Given the description of an element on the screen output the (x, y) to click on. 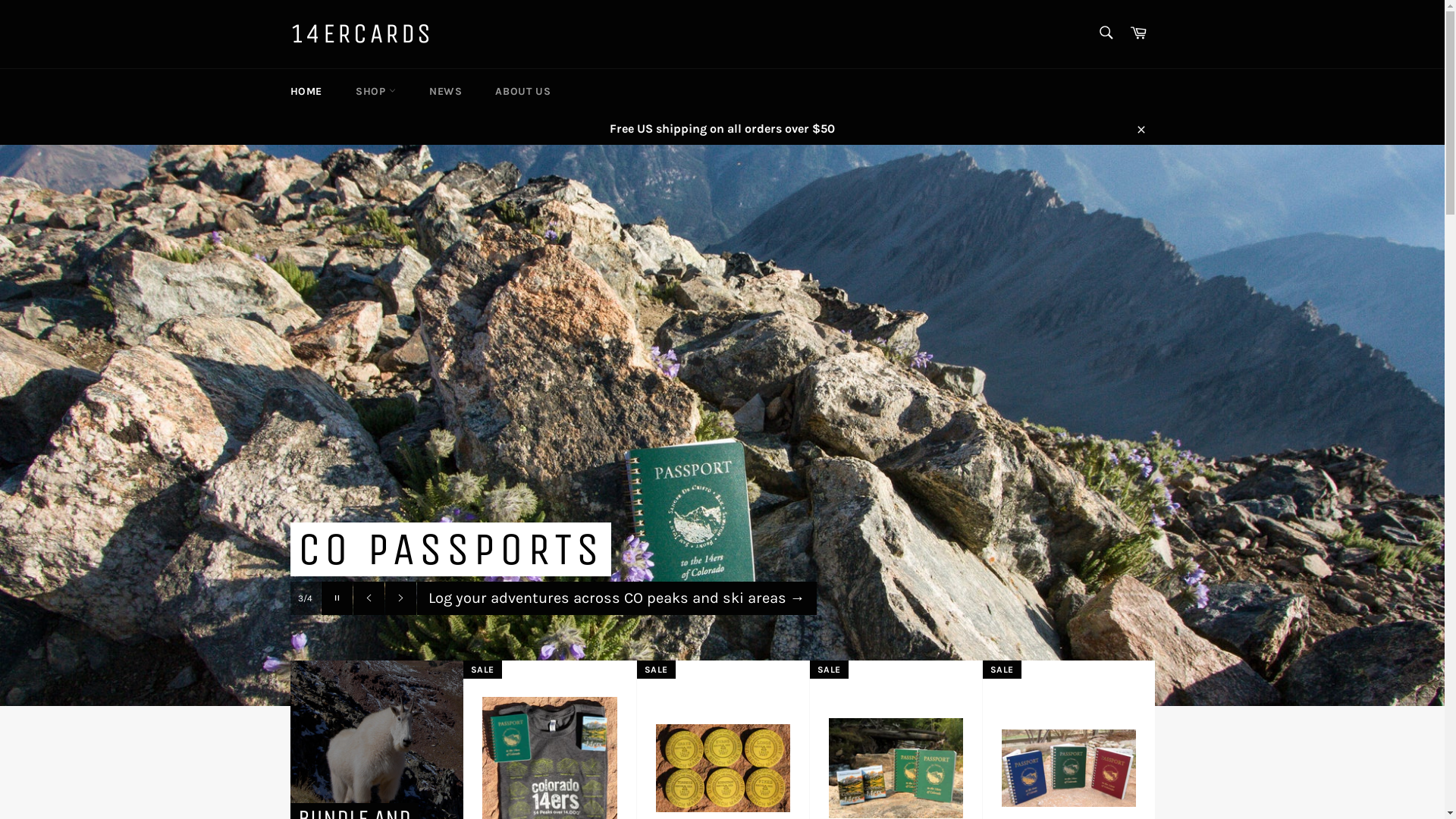
Cart Element type: text (1138, 33)
Previous slide Element type: text (368, 598)
NEWS Element type: text (445, 90)
HOME Element type: text (305, 90)
ABOUT US Element type: text (522, 90)
Next slide Element type: text (400, 598)
14ERCARDS Element type: text (361, 34)
Search Element type: text (1105, 32)
Pause slideshow Element type: text (336, 598)
SHOP Element type: text (375, 90)
Close Element type: text (1139, 128)
